Given the description of an element on the screen output the (x, y) to click on. 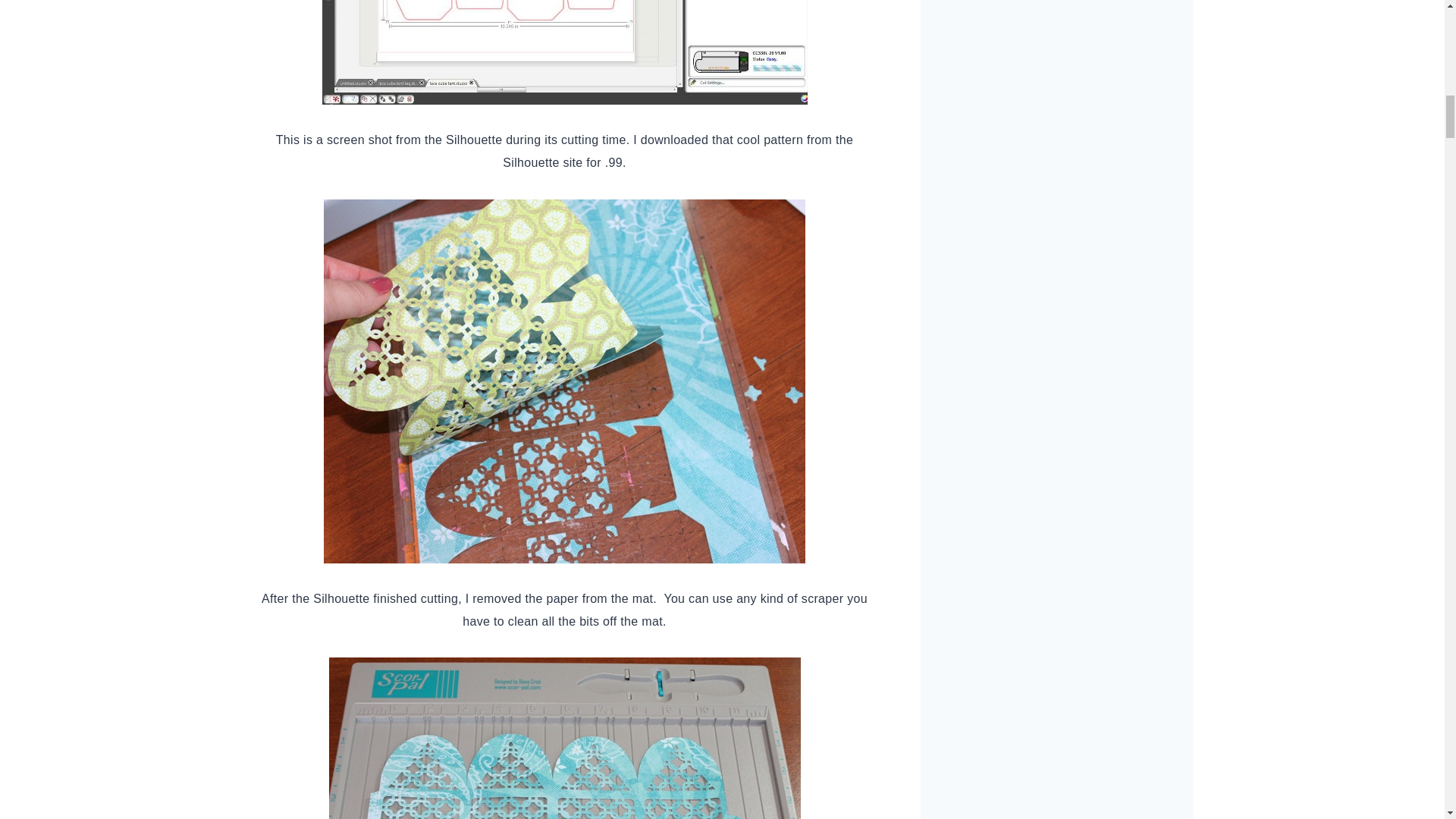
I really LOVE the Silhouette! (563, 52)
Let's even the score. LOL. (564, 738)
